Given the description of an element on the screen output the (x, y) to click on. 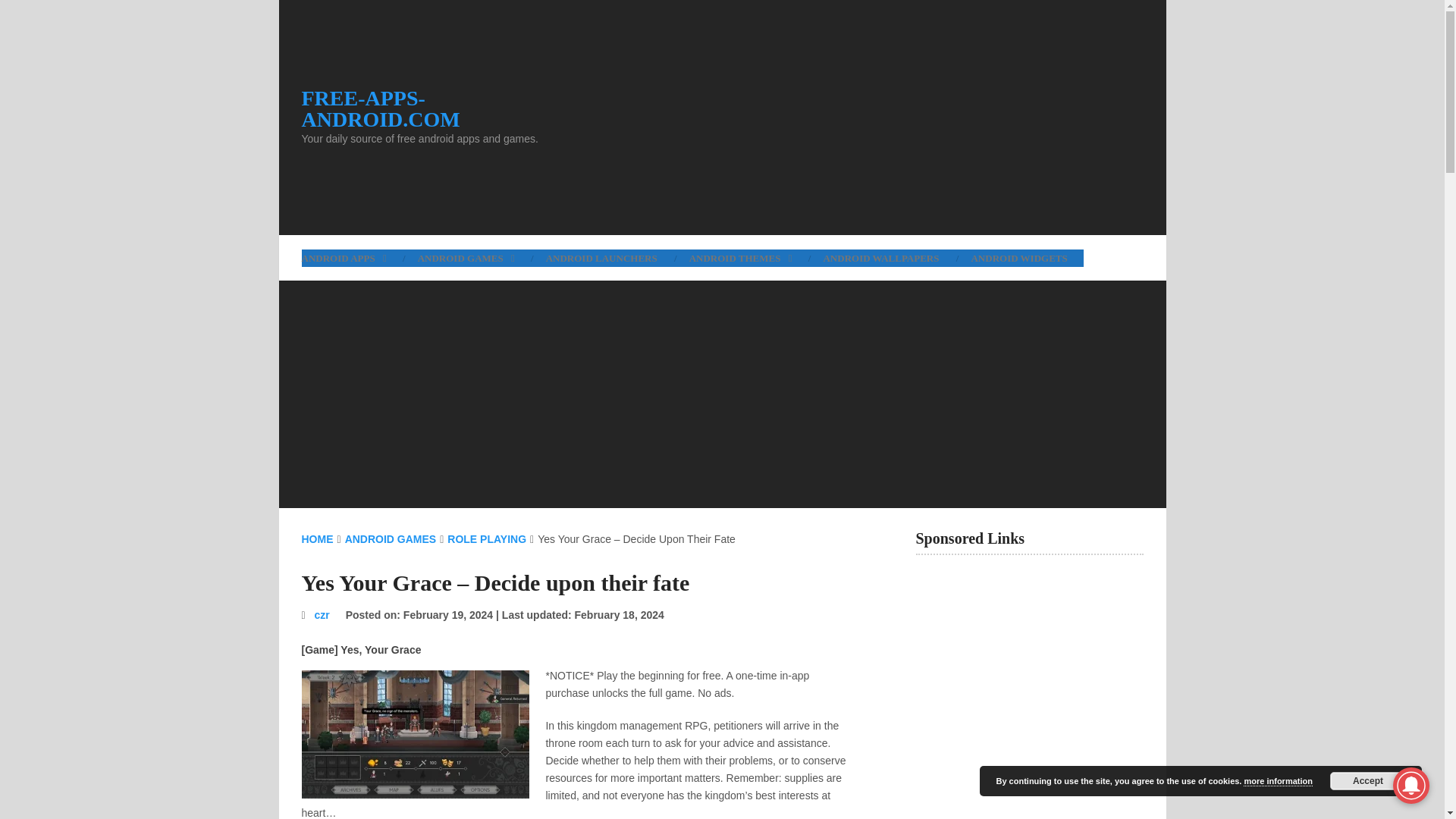
ANDROID GAMES (465, 257)
Advertisement (862, 117)
Posts by czr (322, 614)
ANDROID APPS (351, 257)
FREE-APPS-ANDROID.COM (441, 108)
